Given the description of an element on the screen output the (x, y) to click on. 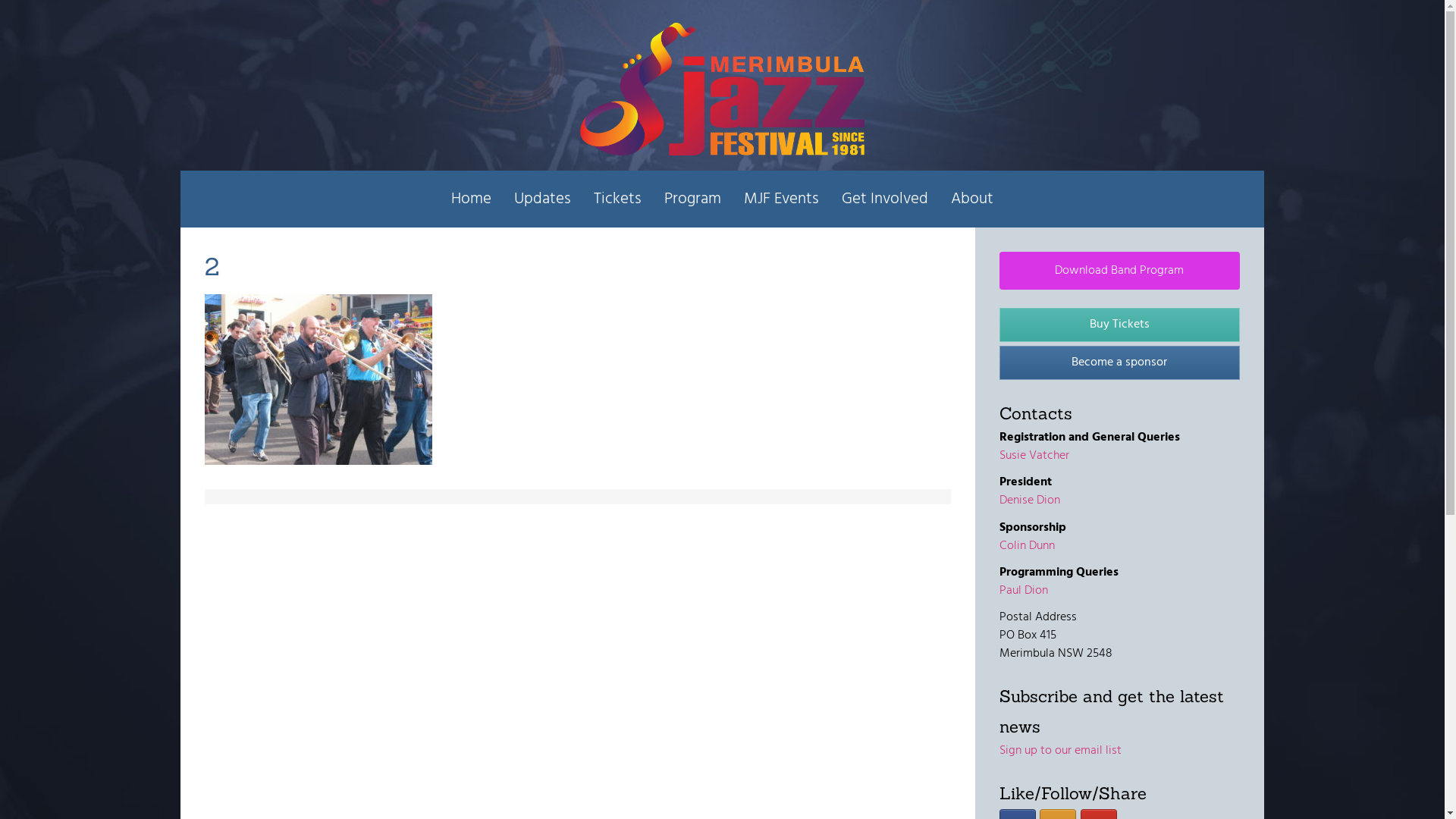
About Element type: text (971, 198)
Colin Dunn Element type: text (1026, 545)
MJF Events Element type: text (781, 198)
Home Element type: text (470, 198)
The Merimbula Jazz Festival Element type: hover (722, 88)
Tickets Element type: text (617, 198)
Become a sponsor Element type: text (1119, 362)
Updates Element type: text (542, 198)
Paul Dion Element type: text (1023, 590)
Download Band Program Element type: text (1119, 270)
Susie Vatcher Element type: text (1034, 455)
Sign up to our email list Element type: text (1060, 750)
Get Involved Element type: text (884, 198)
Buy Tickets Element type: text (1119, 324)
Program Element type: text (692, 198)
Denise Dion Element type: text (1029, 500)
